Given the description of an element on the screen output the (x, y) to click on. 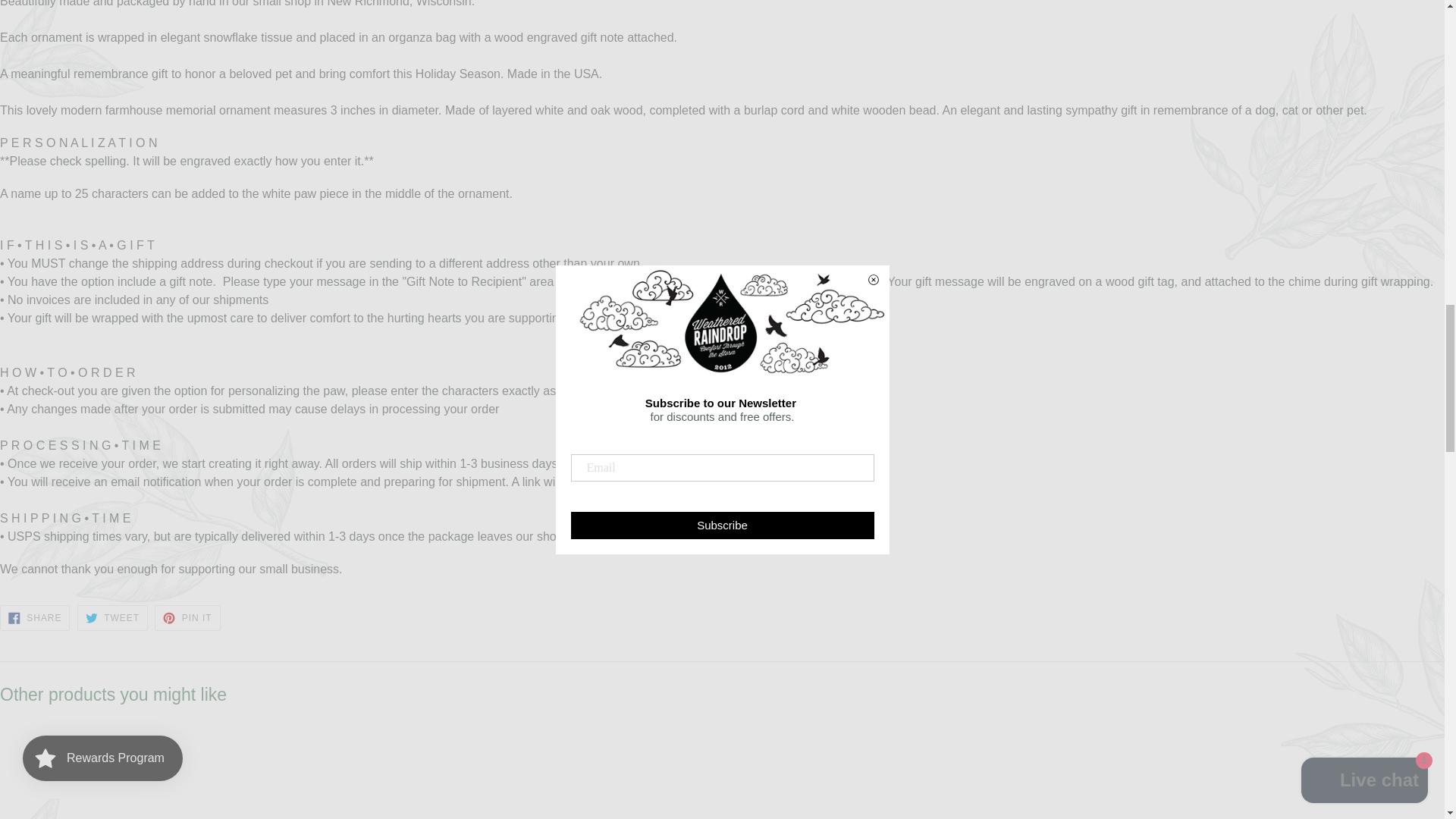
Pin on Pinterest (186, 617)
Tweet on Twitter (112, 617)
Share on Facebook (34, 617)
